Given the description of an element on the screen output the (x, y) to click on. 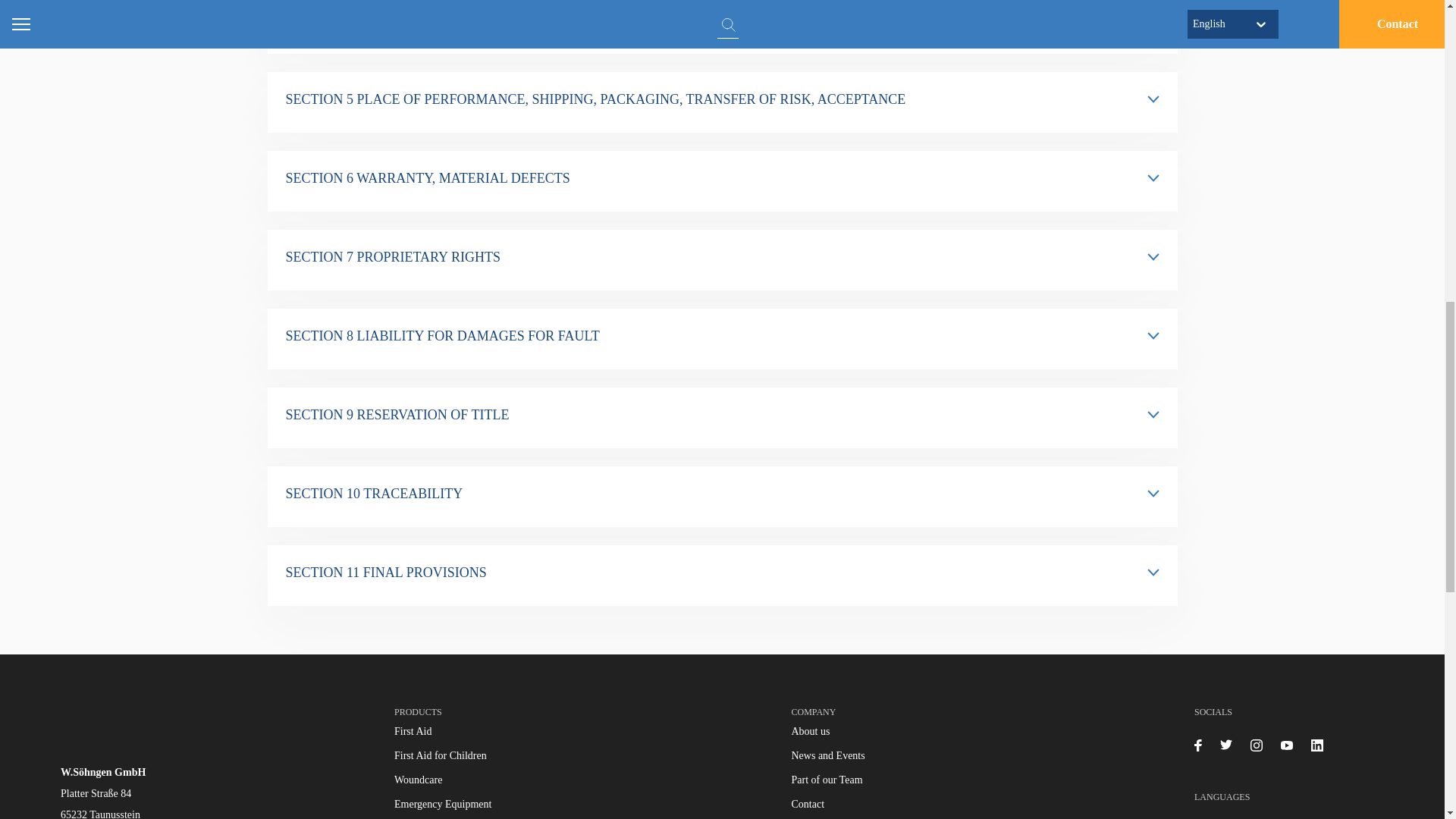
First Aid for Children (440, 755)
First Aid (412, 731)
Contact (808, 803)
Woundcare (418, 779)
Part of our Team (827, 779)
First Aid (412, 731)
Emergency Equipment (443, 803)
Emergency Equipment (443, 803)
First Aid for Children (440, 755)
Woundcare (418, 779)
News and Events (828, 755)
About us (810, 731)
